Given the description of an element on the screen output the (x, y) to click on. 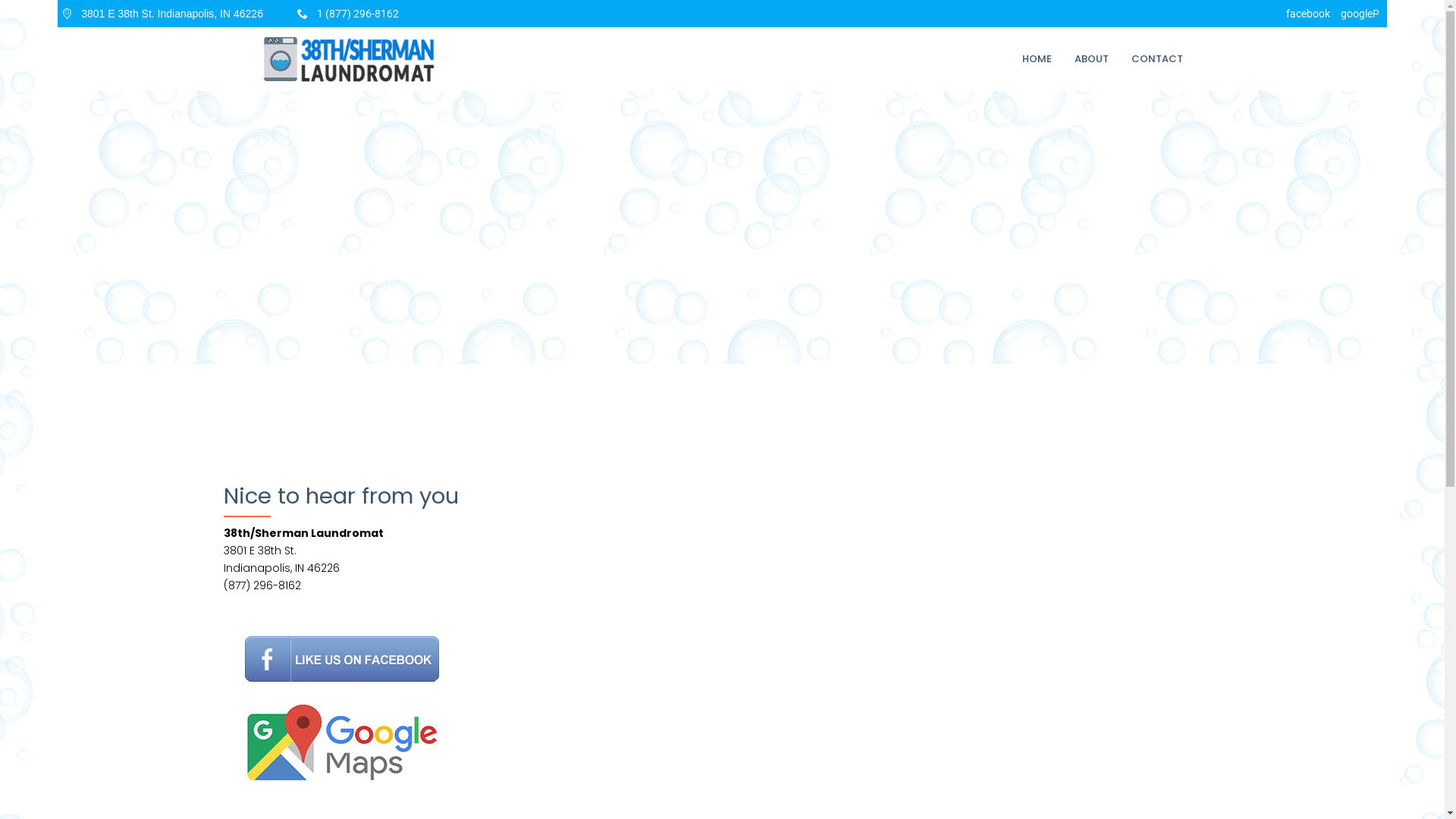
facebook Element type: text (1308, 13)
ABOUT Element type: text (1091, 58)
CONTACT Element type: text (1156, 58)
HOME Element type: text (1036, 58)
googleP Element type: text (1359, 13)
